Given the description of an element on the screen output the (x, y) to click on. 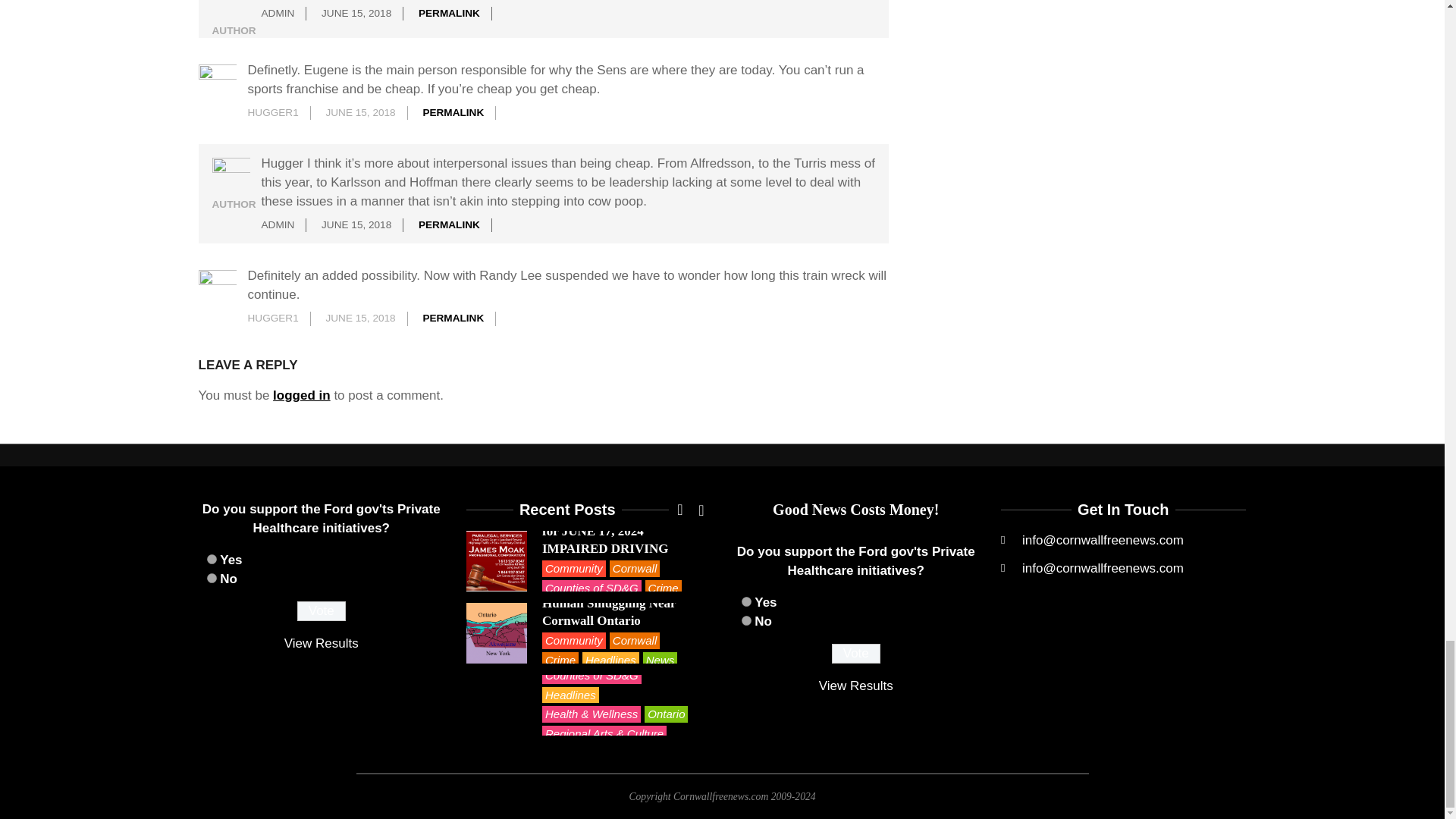
Friday, June 15, 2018, 2:49 pm (359, 112)
1776 (210, 559)
Friday, June 15, 2018, 2:54 pm (356, 224)
   Vote    (321, 610)
Friday, June 15, 2018, 9:38 am (356, 12)
1776 (746, 601)
1777 (210, 578)
Friday, June 15, 2018, 6:08 pm (359, 317)
1777 (746, 620)
   Vote    (855, 653)
